Given the description of an element on the screen output the (x, y) to click on. 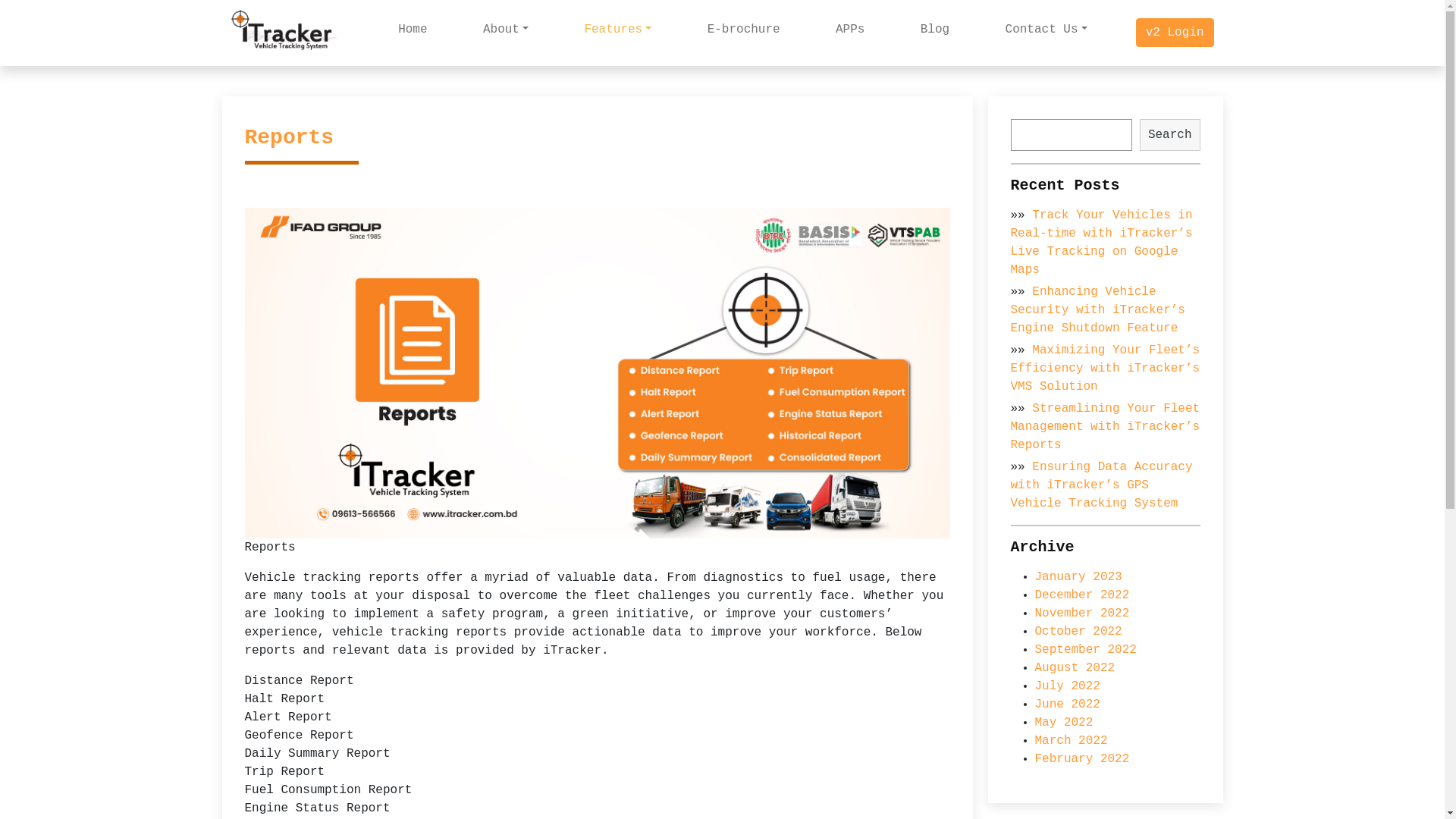
September 2022 Element type: text (1084, 649)
v2 Login Element type: text (1174, 32)
February 2022 Element type: text (1081, 758)
May 2022 Element type: text (1063, 722)
October 2022 Element type: text (1077, 631)
June 2022 Element type: text (1066, 704)
Blog Element type: text (934, 29)
August 2022 Element type: text (1074, 667)
Home Element type: text (412, 29)
December 2022 Element type: text (1081, 595)
Search Element type: text (1169, 134)
Features Element type: text (617, 29)
November 2022 Element type: text (1081, 613)
March 2022 Element type: text (1070, 740)
E-brochure Element type: text (743, 29)
About Element type: text (505, 29)
July 2022 Element type: text (1066, 686)
January 2023 Element type: text (1077, 576)
Contact Us Element type: text (1046, 29)
APPs Element type: text (849, 29)
